Given the description of an element on the screen output the (x, y) to click on. 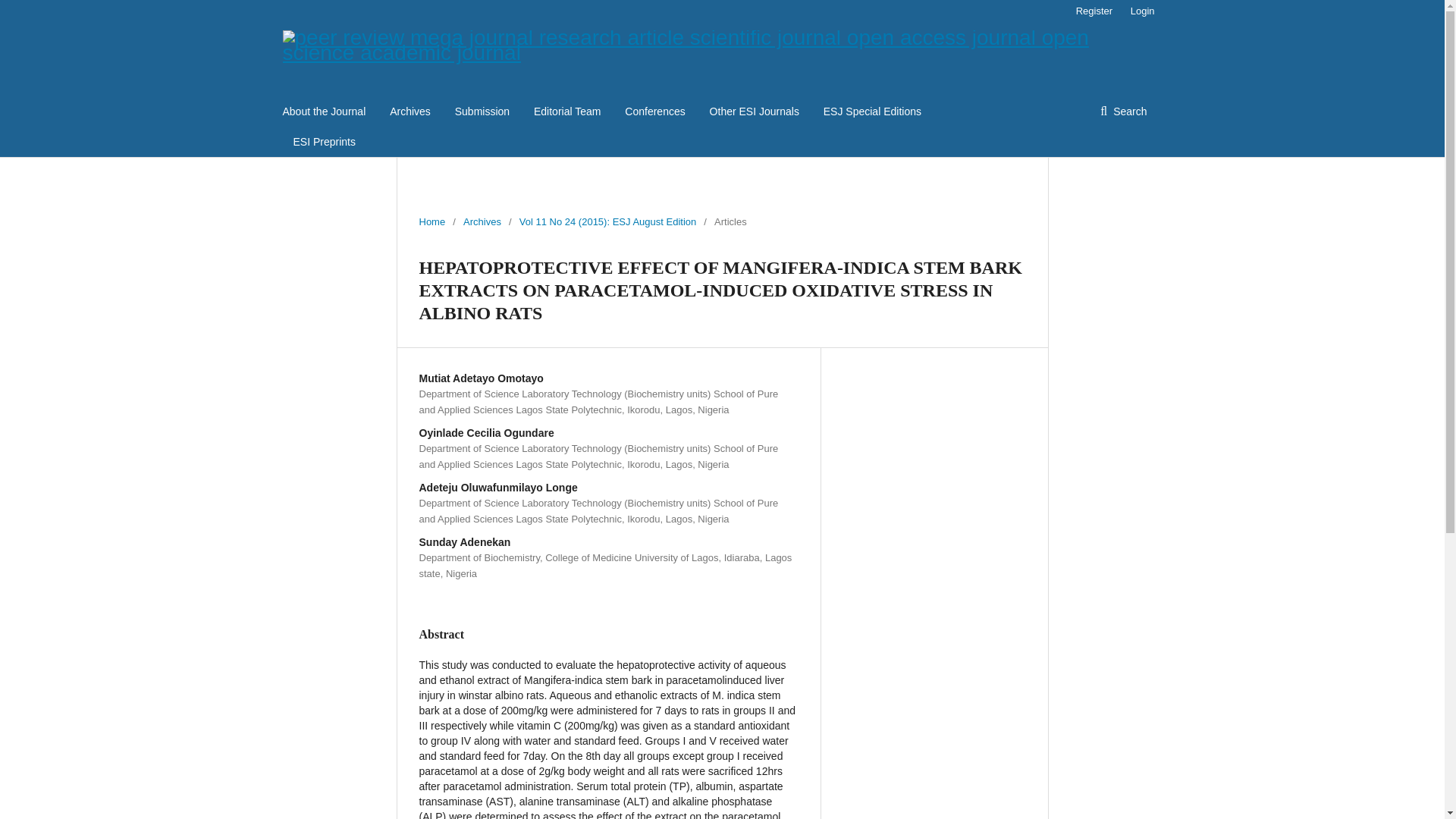
Conferences (654, 111)
Search (1122, 111)
Other ESI Journals (754, 111)
Editorial Team (566, 111)
About the Journal (323, 111)
Home (432, 222)
Login (1138, 11)
Archives (481, 222)
ESJ Special Editions (872, 111)
Archives (410, 111)
Register (1093, 11)
Submission (481, 111)
ESI Preprints (323, 141)
